Given the description of an element on the screen output the (x, y) to click on. 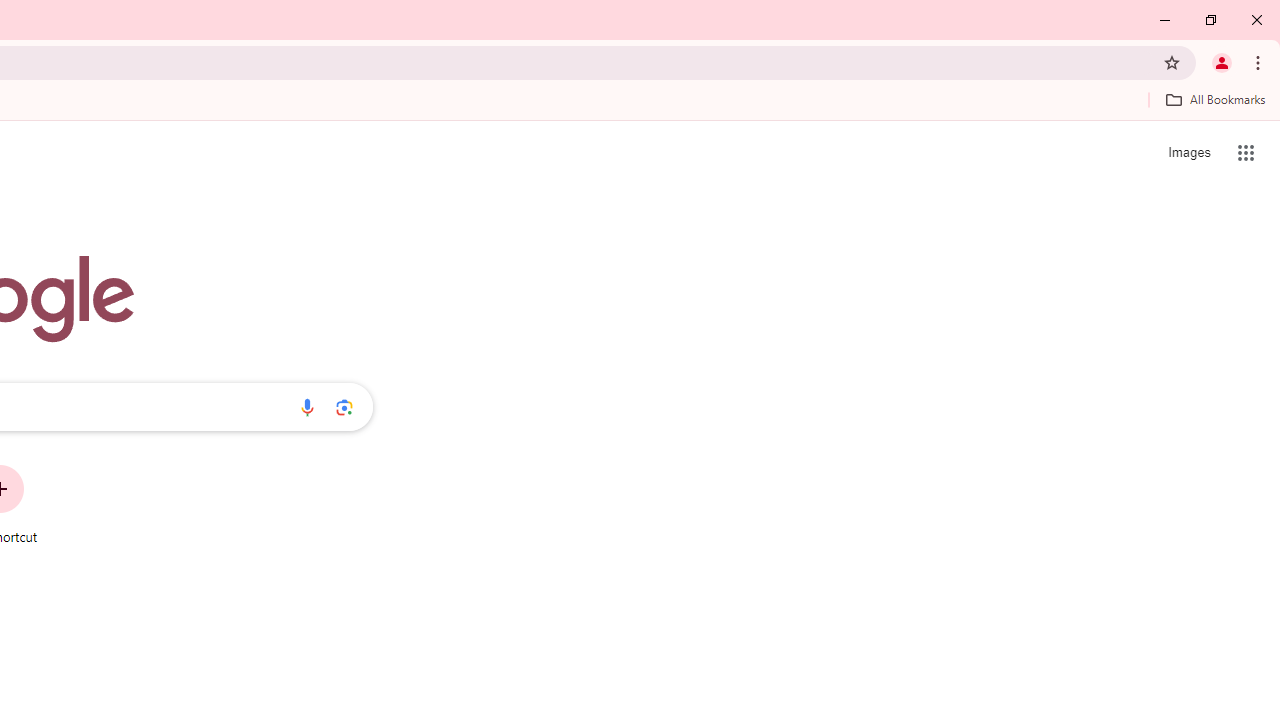
Search for Images  (1188, 152)
Search by image (344, 407)
Google apps (1245, 152)
All Bookmarks (1215, 99)
Search by voice (307, 407)
